Given the description of an element on the screen output the (x, y) to click on. 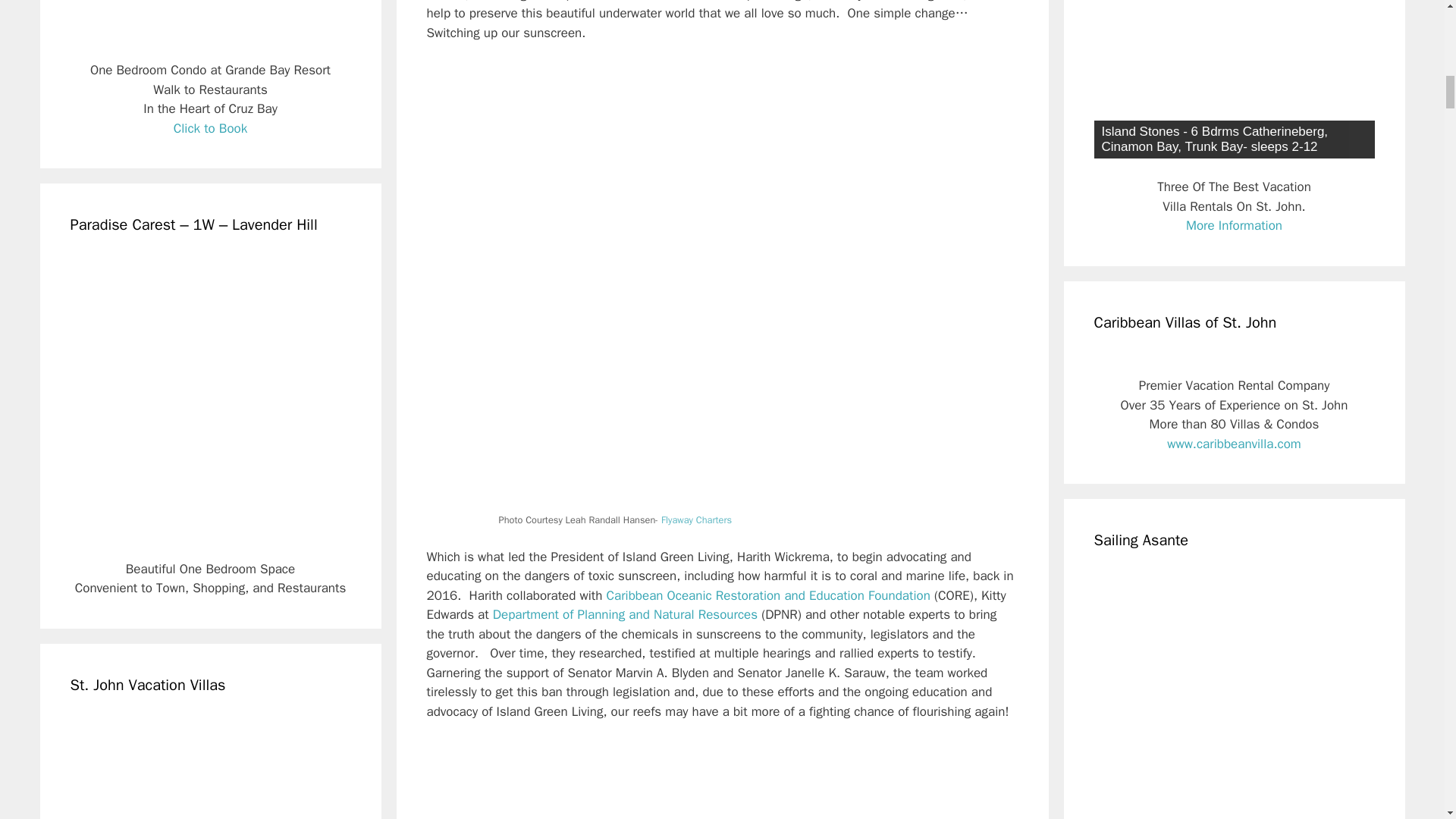
Flyaway Charters (696, 520)
Department of Planning and Natural Resources (625, 614)
Caribbean Oceanic Restoration and Education Foundation (767, 595)
